Given the description of an element on the screen output the (x, y) to click on. 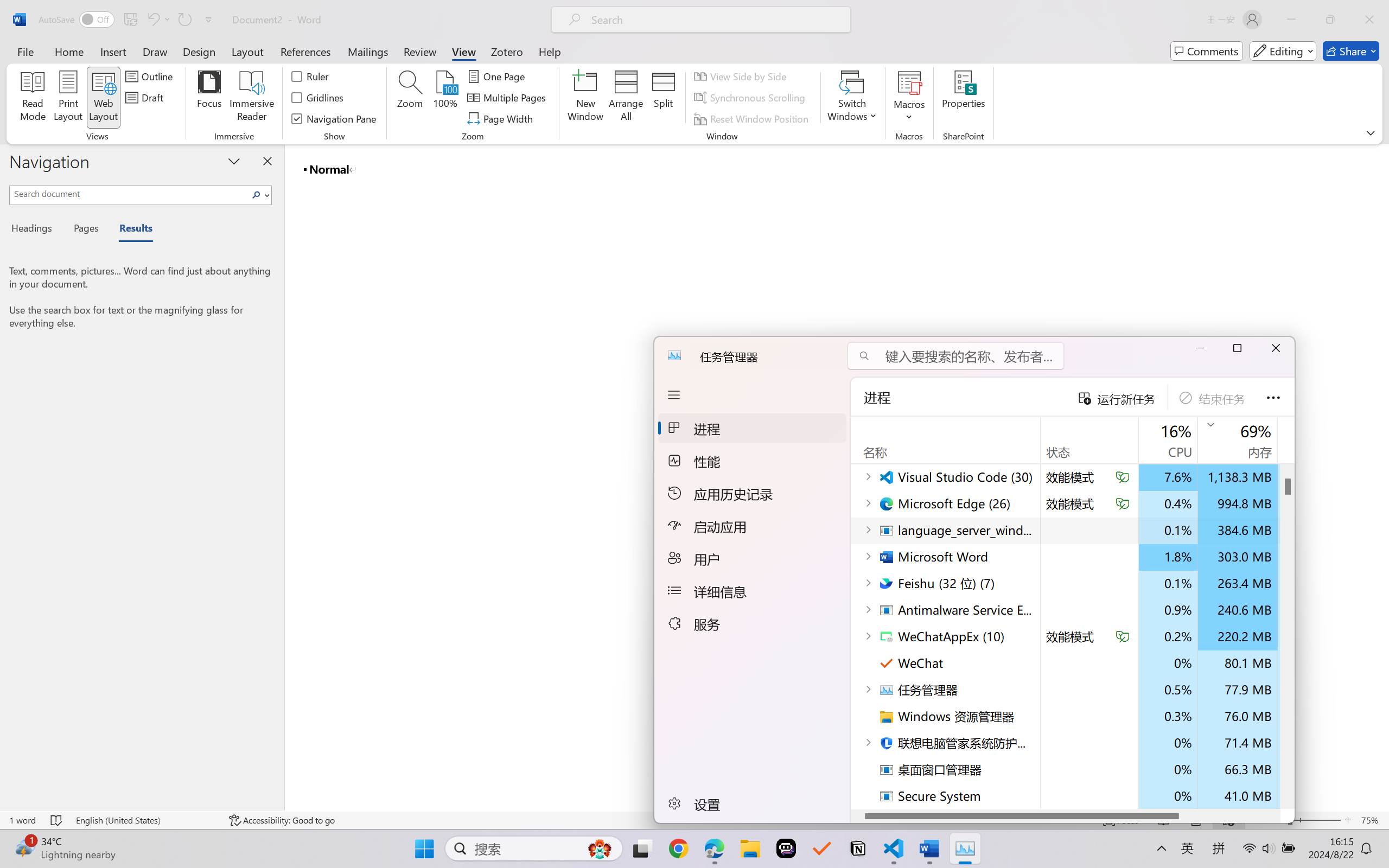
Focus (209, 97)
Navigation Pane (334, 118)
Outline (150, 75)
Switch Windows (852, 97)
Search document (128, 193)
Notion (857, 848)
Ruler (309, 75)
